Given the description of an element on the screen output the (x, y) to click on. 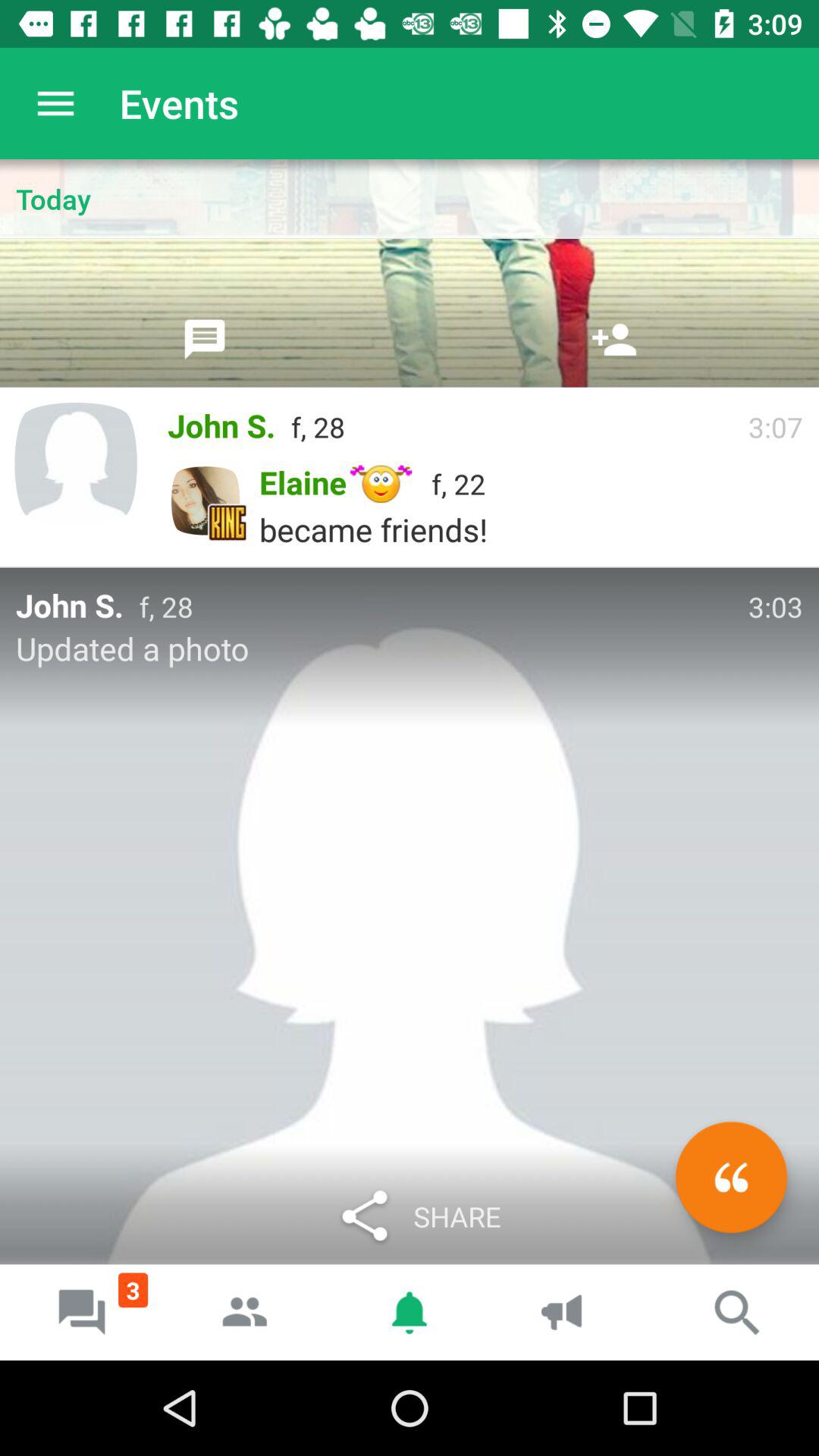
tap the icon above f, 28 icon (614, 339)
